Given the description of an element on the screen output the (x, y) to click on. 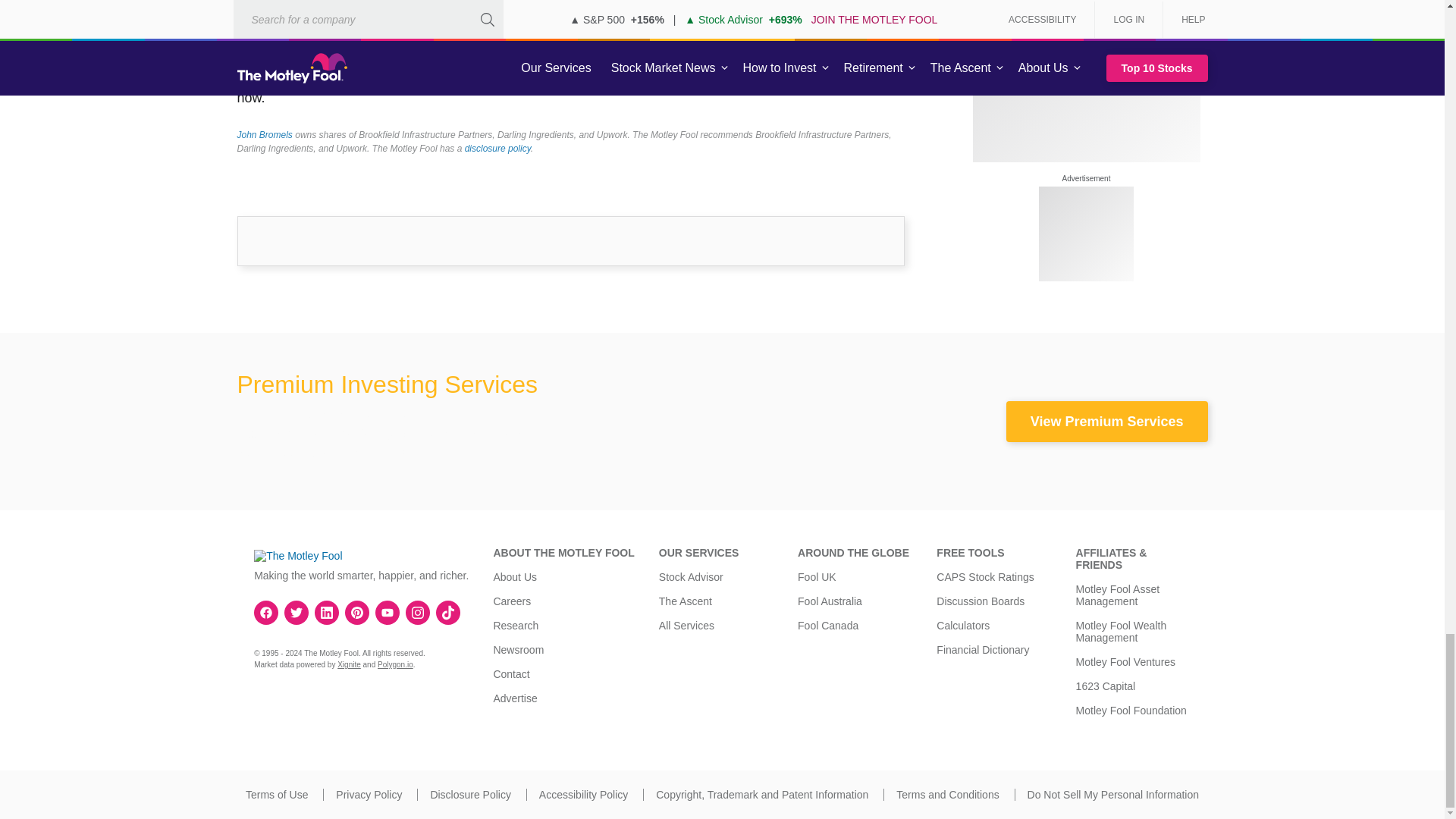
Privacy Policy (368, 794)
Do Not Sell My Personal Information. (1112, 794)
Terms of Use (276, 794)
Accessibility Policy (582, 794)
Copyright, Trademark and Patent Information (761, 794)
Terms and Conditions (947, 794)
Disclosure Policy (470, 794)
